Given the description of an element on the screen output the (x, y) to click on. 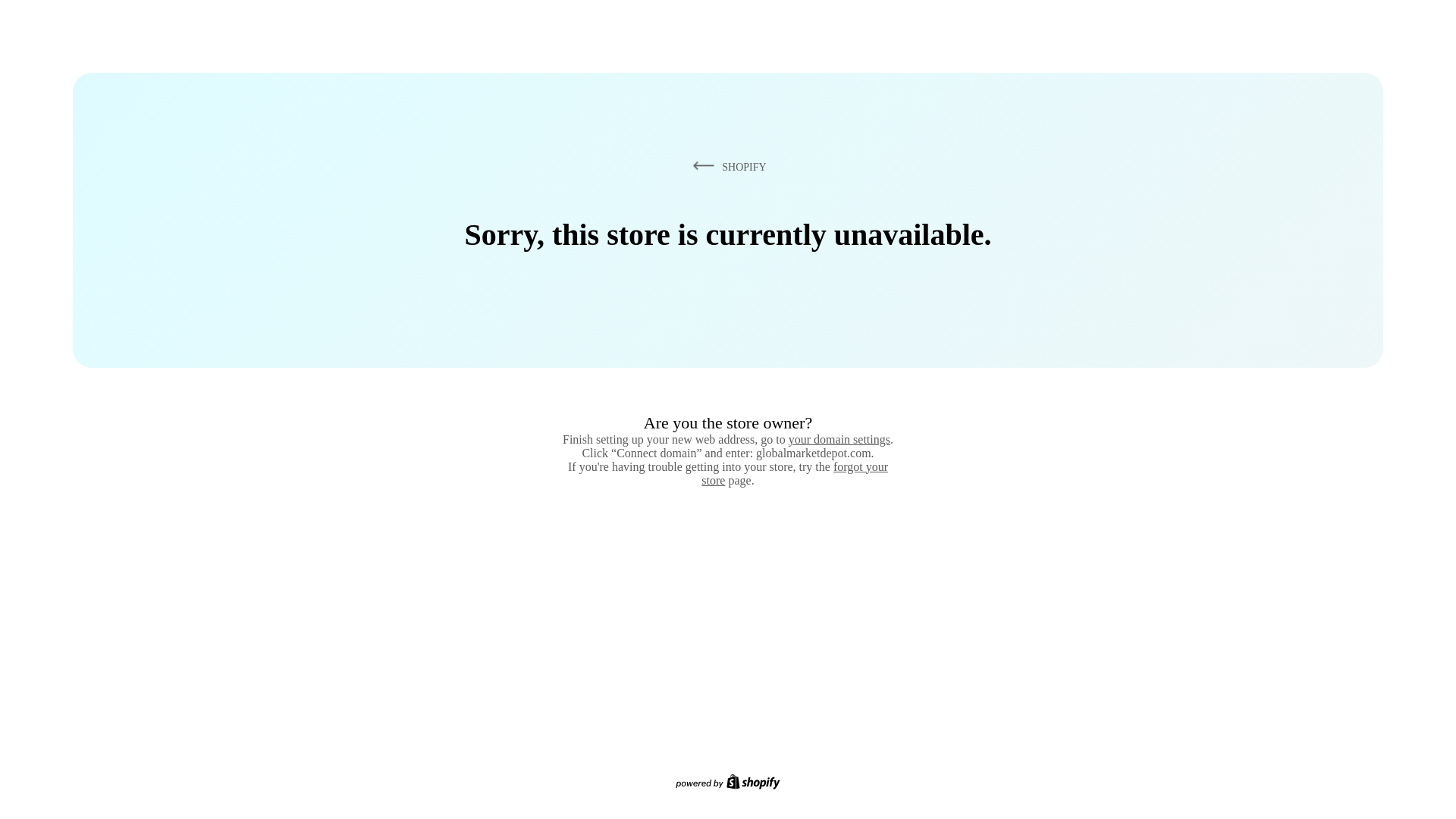
forgot your store (794, 473)
SHOPIFY (726, 166)
your domain settings (839, 439)
